Given the description of an element on the screen output the (x, y) to click on. 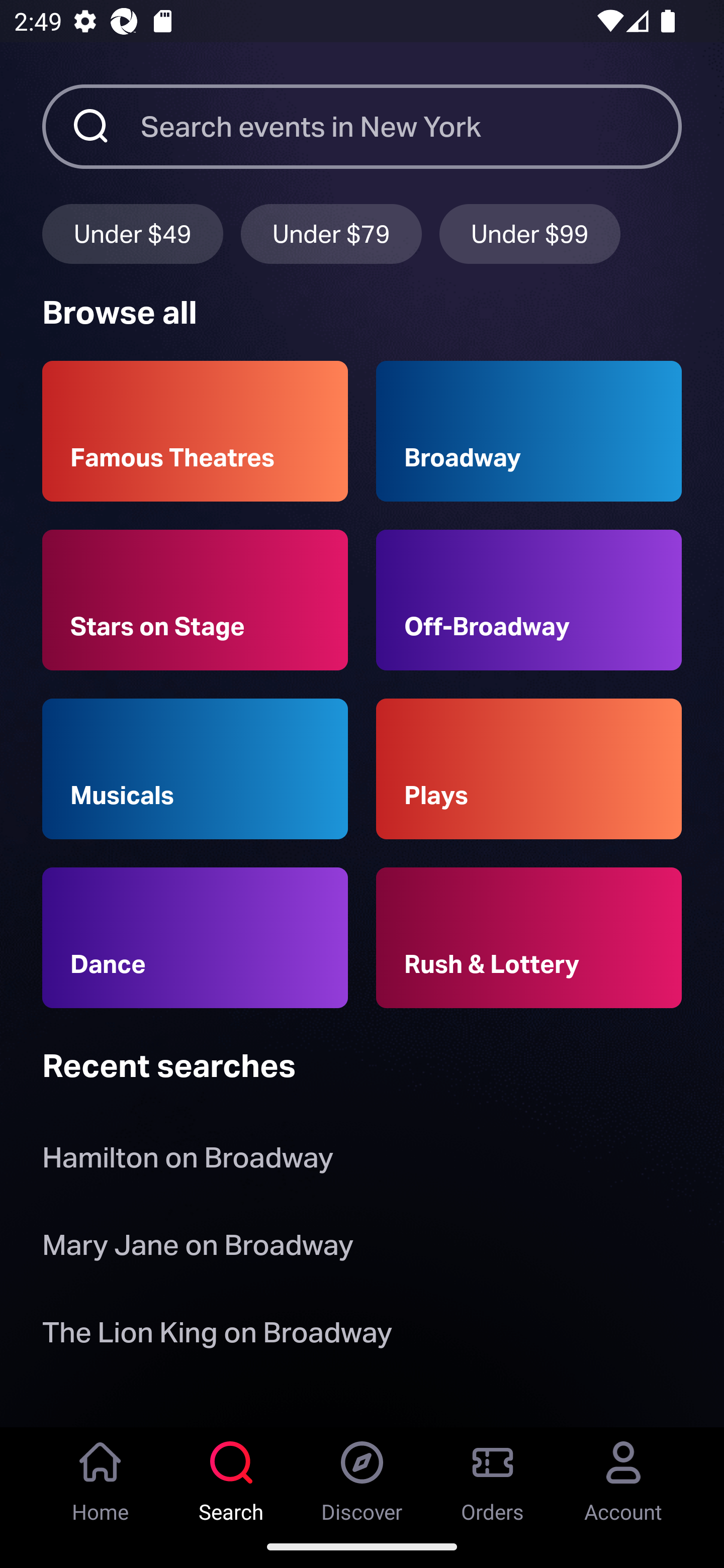
Search events in New York (411, 126)
Under $49 (131, 233)
Under $79 (331, 233)
Under $99 (529, 233)
Famous Theatres (194, 430)
Broadway (528, 430)
Stars on Stage (194, 600)
Off-Broadway (528, 600)
Musicals (194, 768)
Plays (528, 768)
Dance (194, 937)
Rush & Lottery (528, 937)
Hamilton on Broadway (187, 1161)
Mary Jane on Broadway (197, 1248)
The Lion King on Broadway (216, 1335)
Home (100, 1475)
Discover (361, 1475)
Orders (492, 1475)
Account (623, 1475)
